Given the description of an element on the screen output the (x, y) to click on. 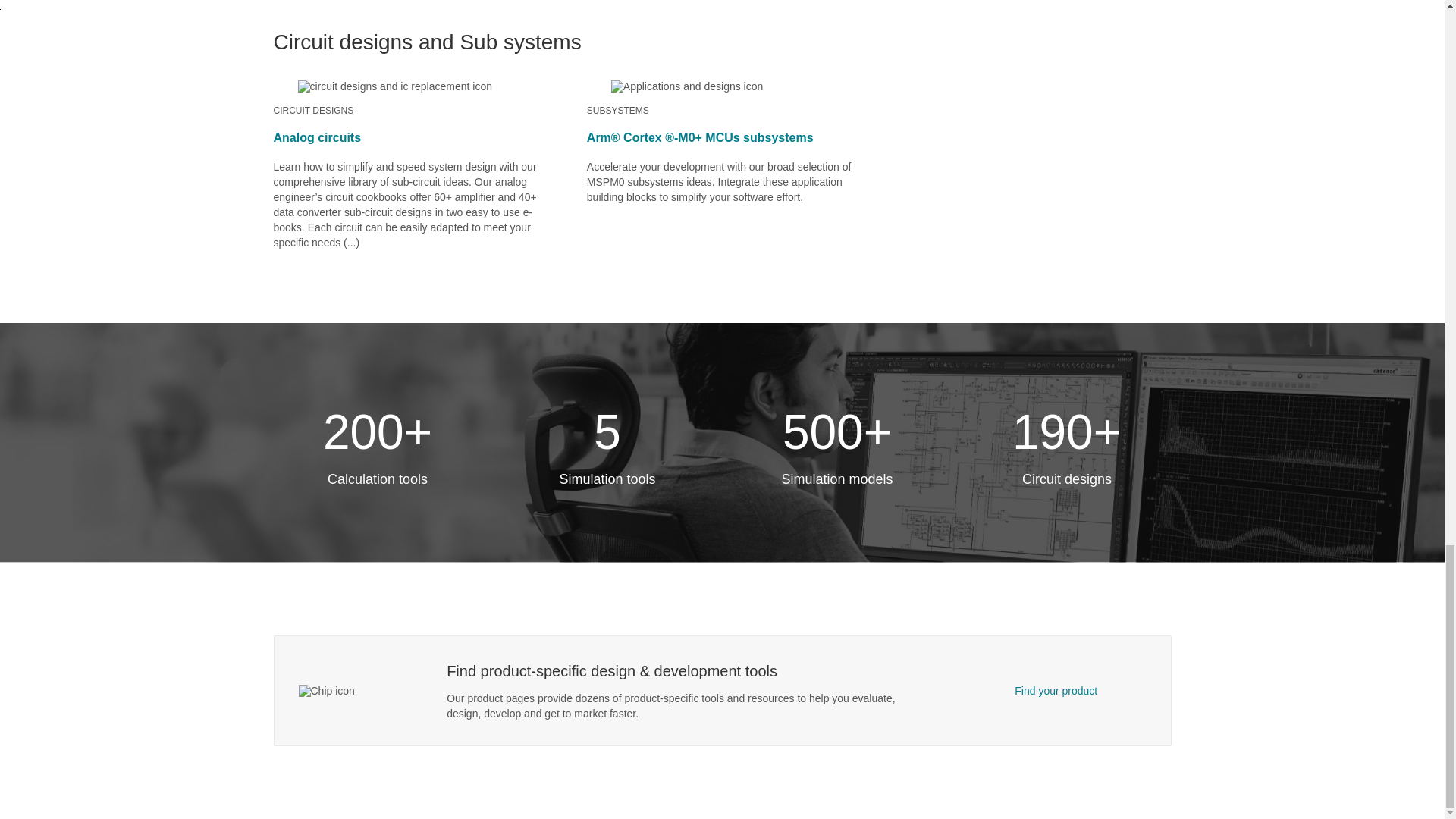
Analog circuits (317, 137)
Find your product (1055, 690)
